Given the description of an element on the screen output the (x, y) to click on. 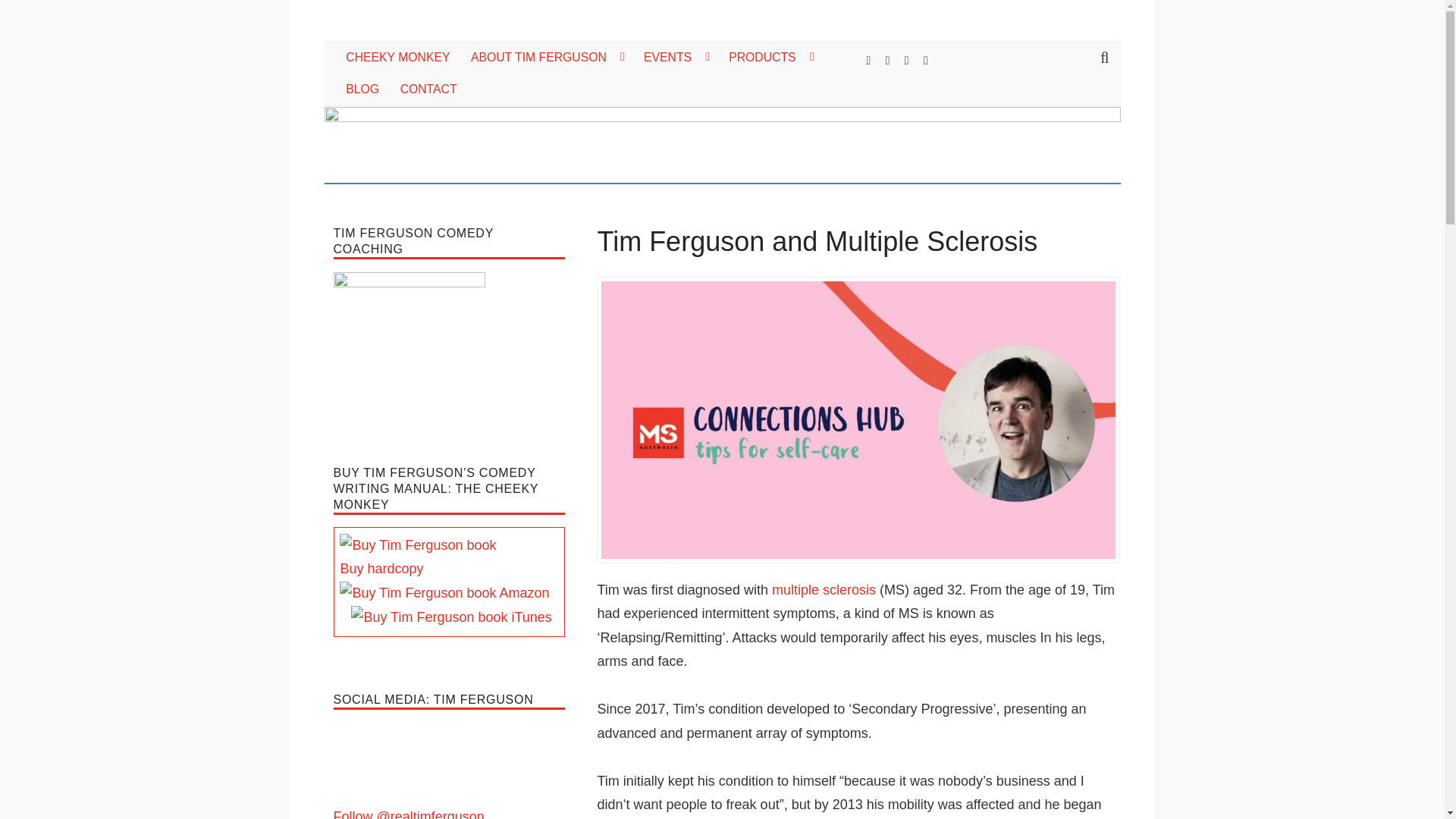
EVENTS (675, 57)
ABOUT TIM FERGUSON (546, 57)
BLOG (361, 88)
THE CHEEKY MONKEY (491, 40)
CHEEKY MONKEY (397, 57)
PRODUCTS (769, 57)
CONTACT (428, 88)
